Given the description of an element on the screen output the (x, y) to click on. 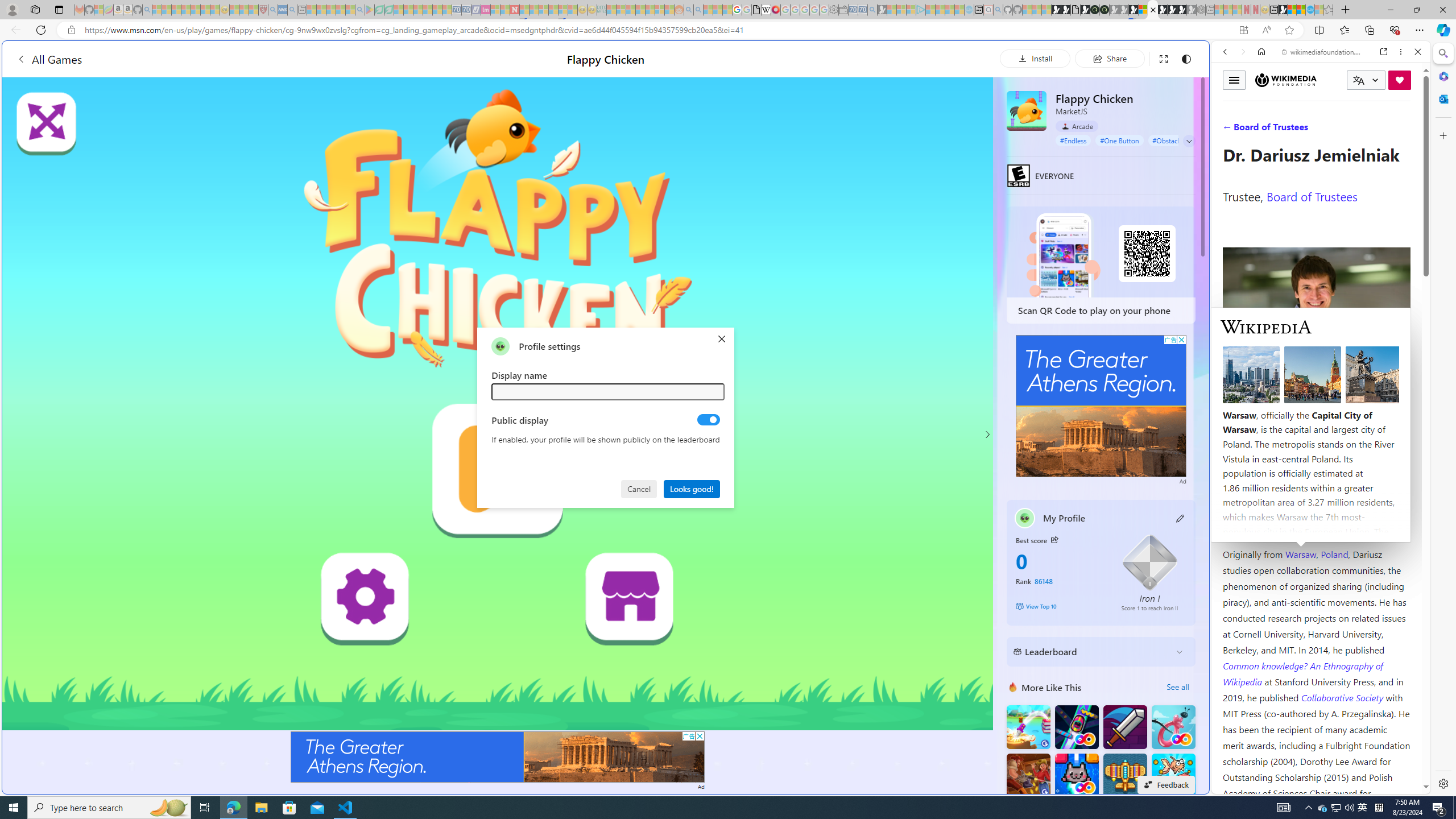
Fish Merge FRVR (1173, 775)
Atlantic Sky Hunter (1124, 775)
CURRENT LANGUAGE: (1366, 80)
Kozminski University (1316, 486)
Wikimedia Foundation (1286, 79)
Arcade (1076, 126)
Microsoft Start Gaming - Sleeping (881, 9)
